Given the description of an element on the screen output the (x, y) to click on. 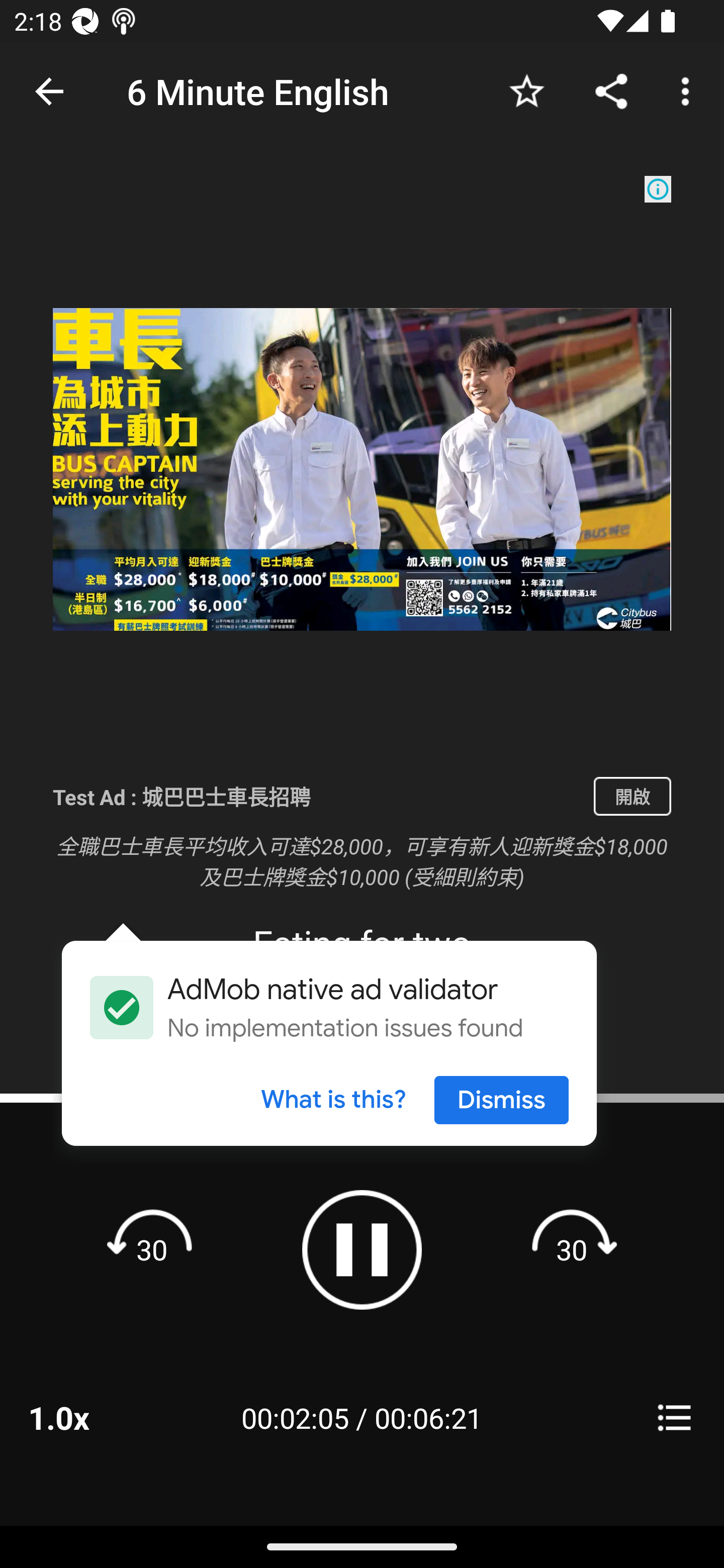
Navigate up (49, 91)
Add to Favorites (526, 90)
Share... (611, 90)
More options (688, 90)
Ad Choices Icon (657, 188)
開啟 (632, 796)
Test Ad : 城巴巴士車長招聘 (315, 796)
Pause (361, 1249)
Rewind (151, 1249)
Fast forward (571, 1249)
1.0x Playback Speeds (84, 1417)
00:06:21 (428, 1417)
